Given the description of an element on the screen output the (x, y) to click on. 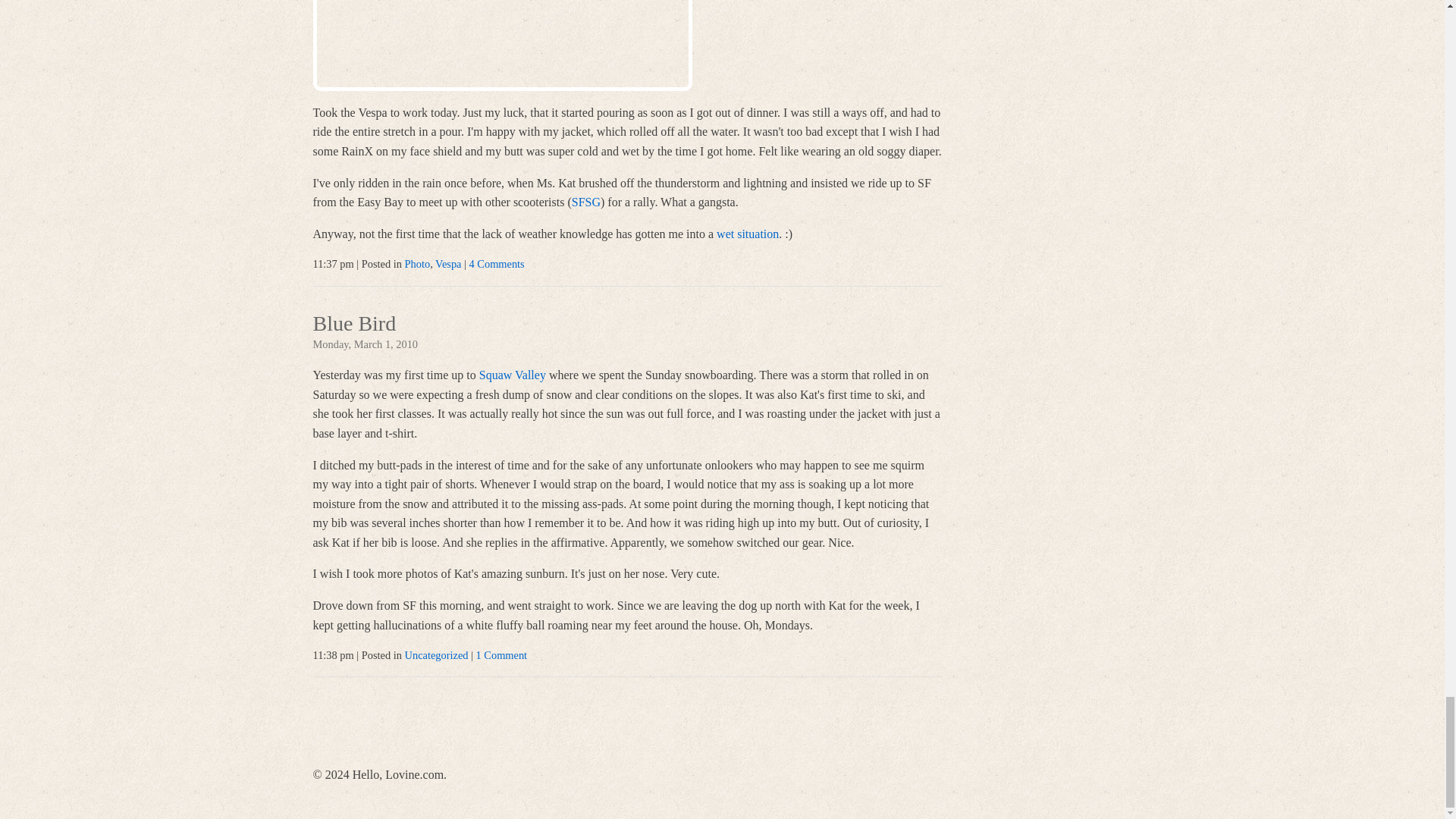
3 years ago... (502, 45)
